Given the description of an element on the screen output the (x, y) to click on. 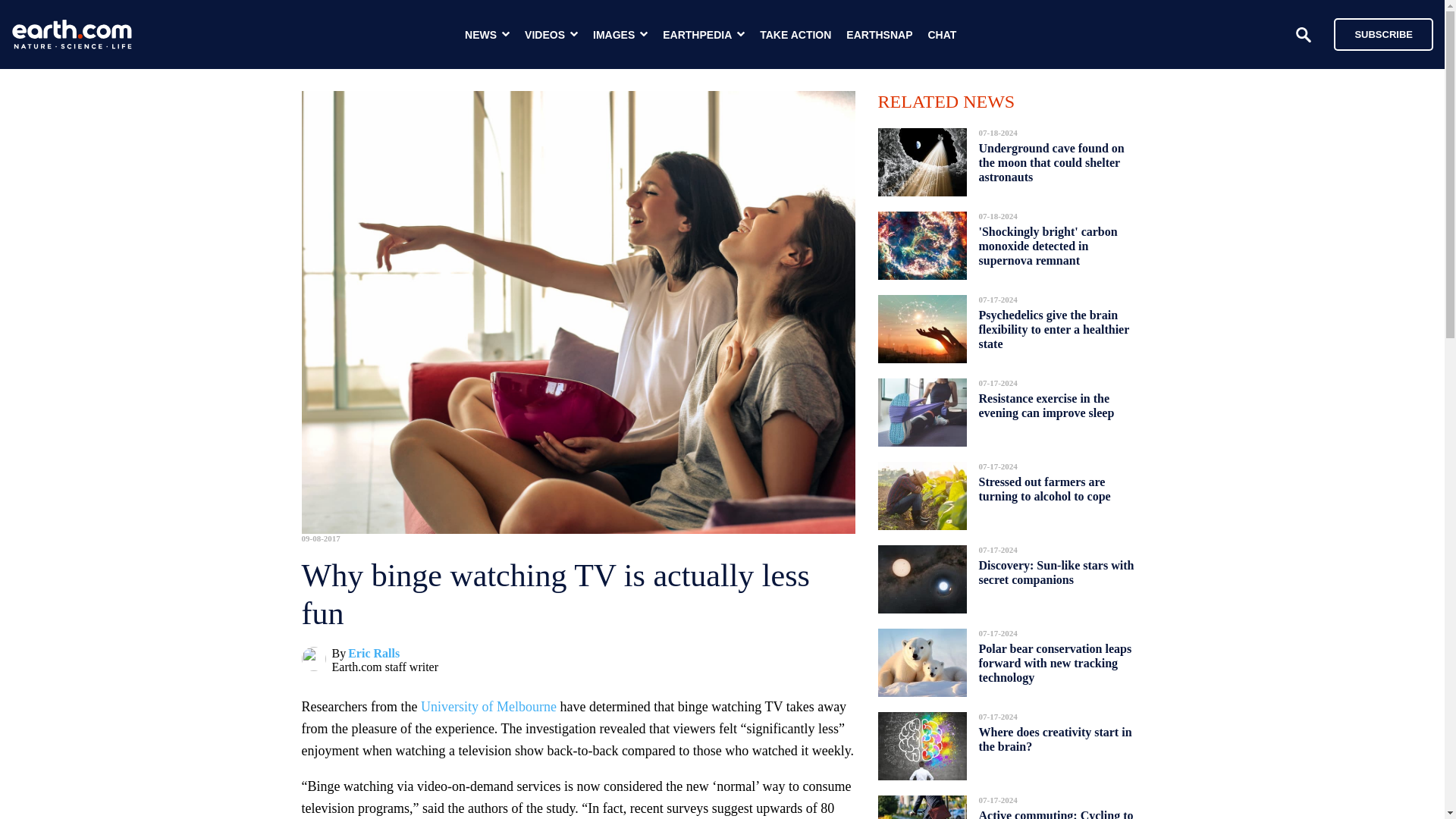
Resistance exercise in the evening can improve sleep (1045, 405)
EARTHSNAP (878, 34)
TAKE ACTION (795, 34)
University of Melbourne (488, 706)
Where does creativity start in the brain? (1054, 739)
Discovery: Sun-like stars with secret companions (1056, 572)
Eric Ralls (372, 653)
Stressed out farmers are turning to alcohol to cope (1043, 488)
SUBSCRIBE (1375, 33)
CHAT (941, 34)
SUBSCRIBE (1382, 34)
